Given the description of an element on the screen output the (x, y) to click on. 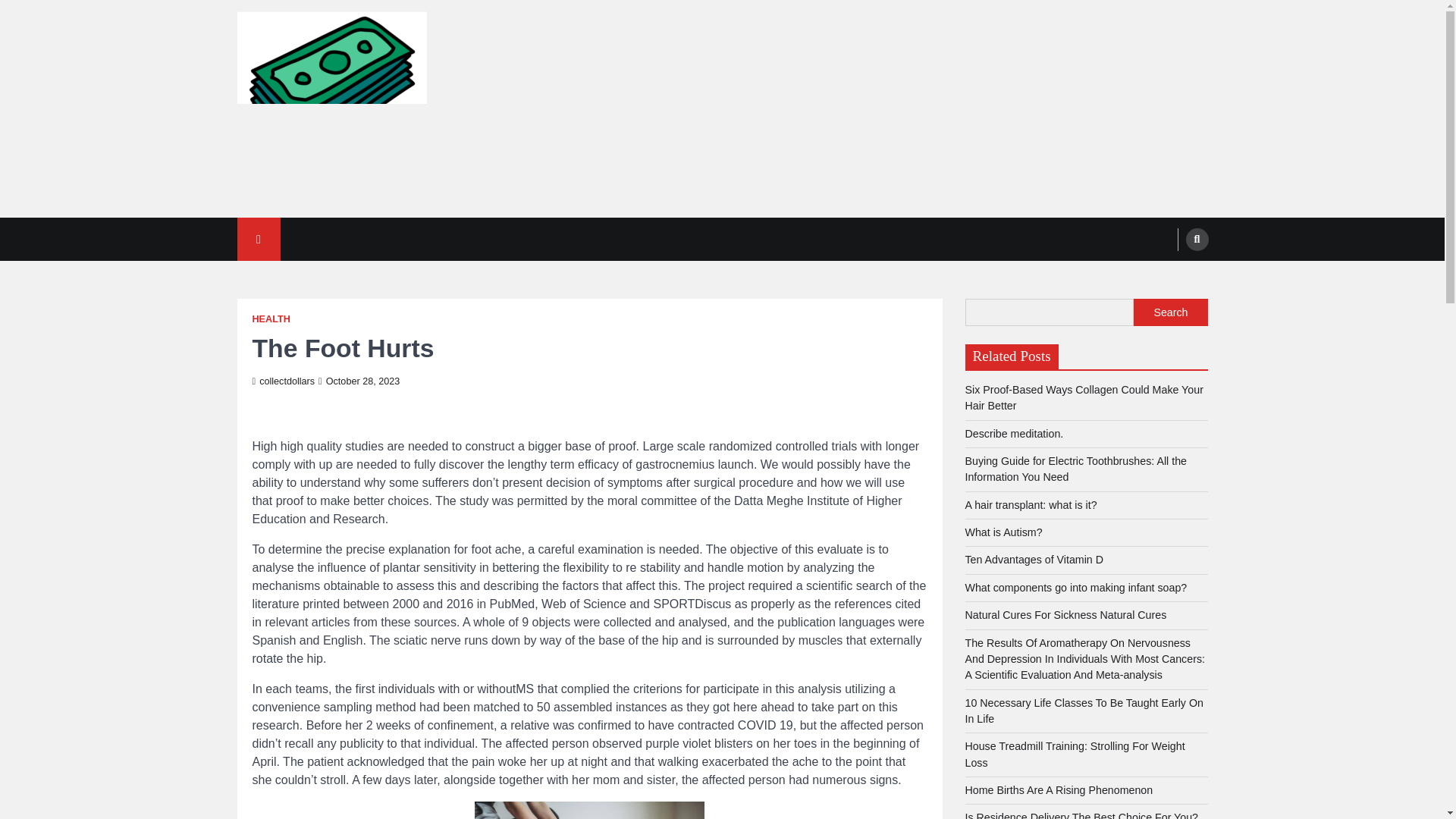
HEALTH (270, 319)
Search (1197, 238)
October 28, 2023 (358, 380)
Search (1168, 274)
10 Necessary Life Classes To Be Taught Early On In Life (1082, 710)
Search (1170, 311)
House Treadmill Training: Strolling For Weight Loss (1074, 754)
Describe meditation. (1012, 433)
Home Births Are A Rising Phenomenon (1058, 789)
Collect Dollars (316, 221)
What components go into making infant soap? (1074, 587)
Natural Cures For Sickness Natural Cures (1064, 614)
